Given the description of an element on the screen output the (x, y) to click on. 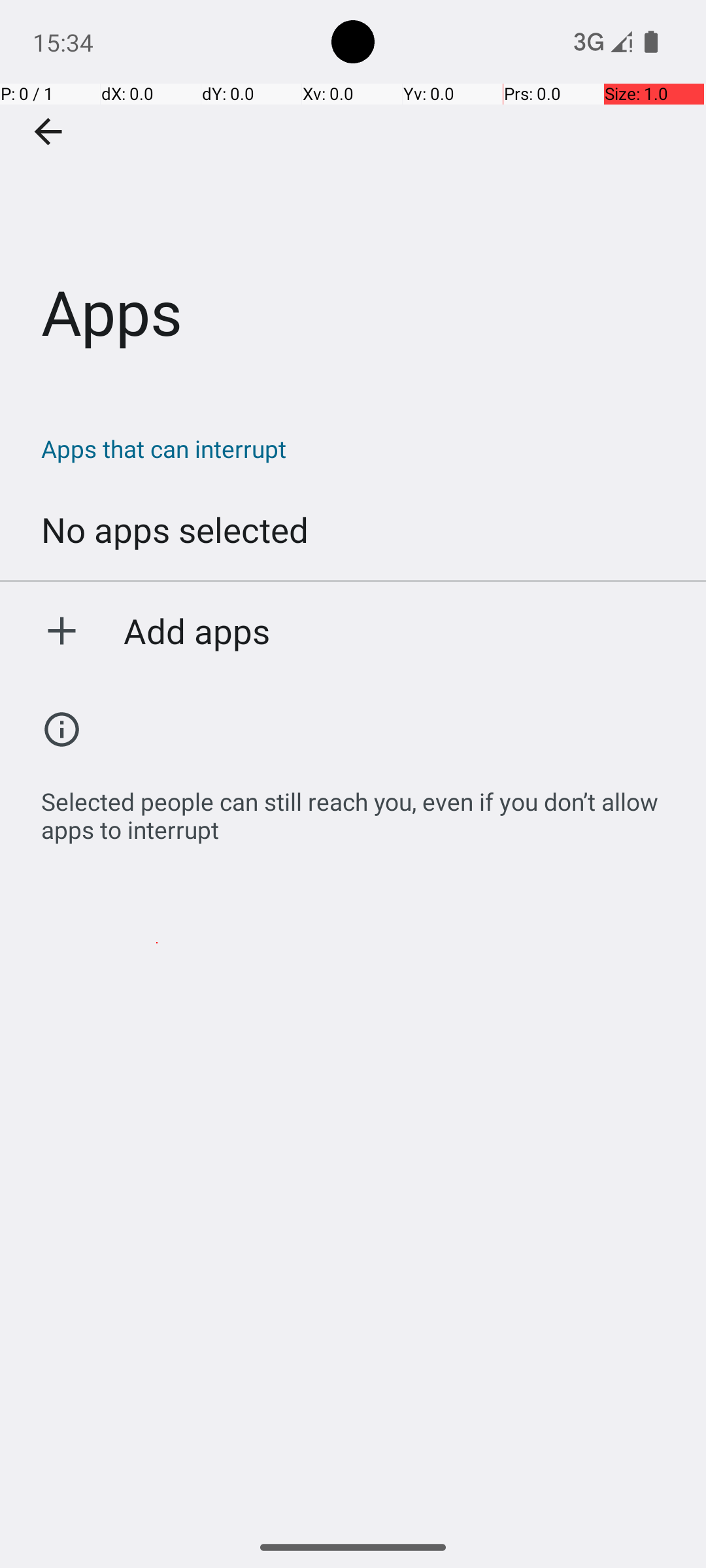
Apps that can interrupt Element type: android.widget.TextView (359, 448)
No apps selected Element type: android.widget.TextView (174, 529)
Add apps Element type: android.widget.TextView (196, 630)
Selected people can still reach you, even if you don’t allow apps to interrupt Element type: android.widget.TextView (359, 808)
